Given the description of an element on the screen output the (x, y) to click on. 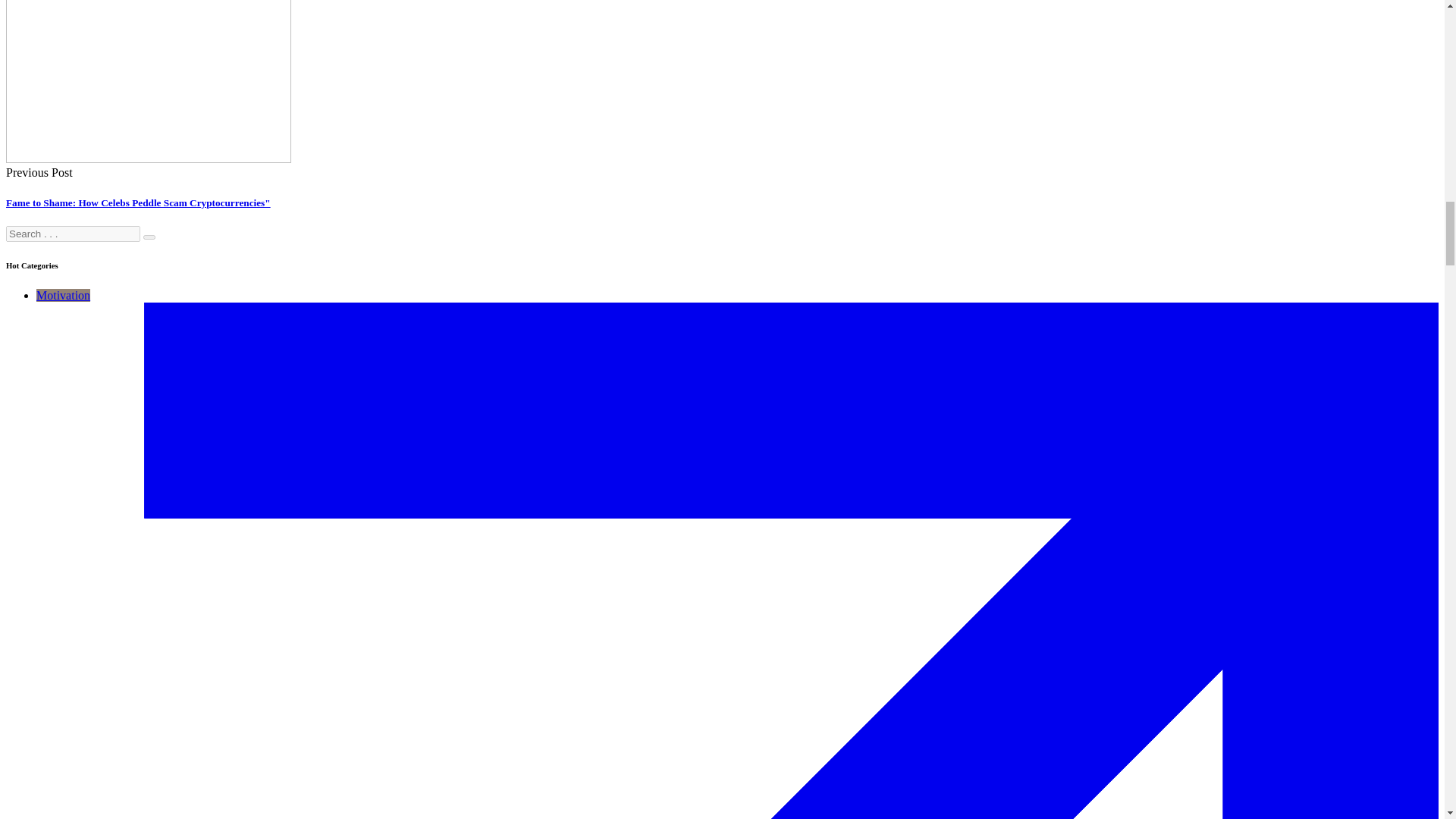
Fame to Shame: How Celebs Peddle Scam Cryptocurrencies" (137, 202)
